Given the description of an element on the screen output the (x, y) to click on. 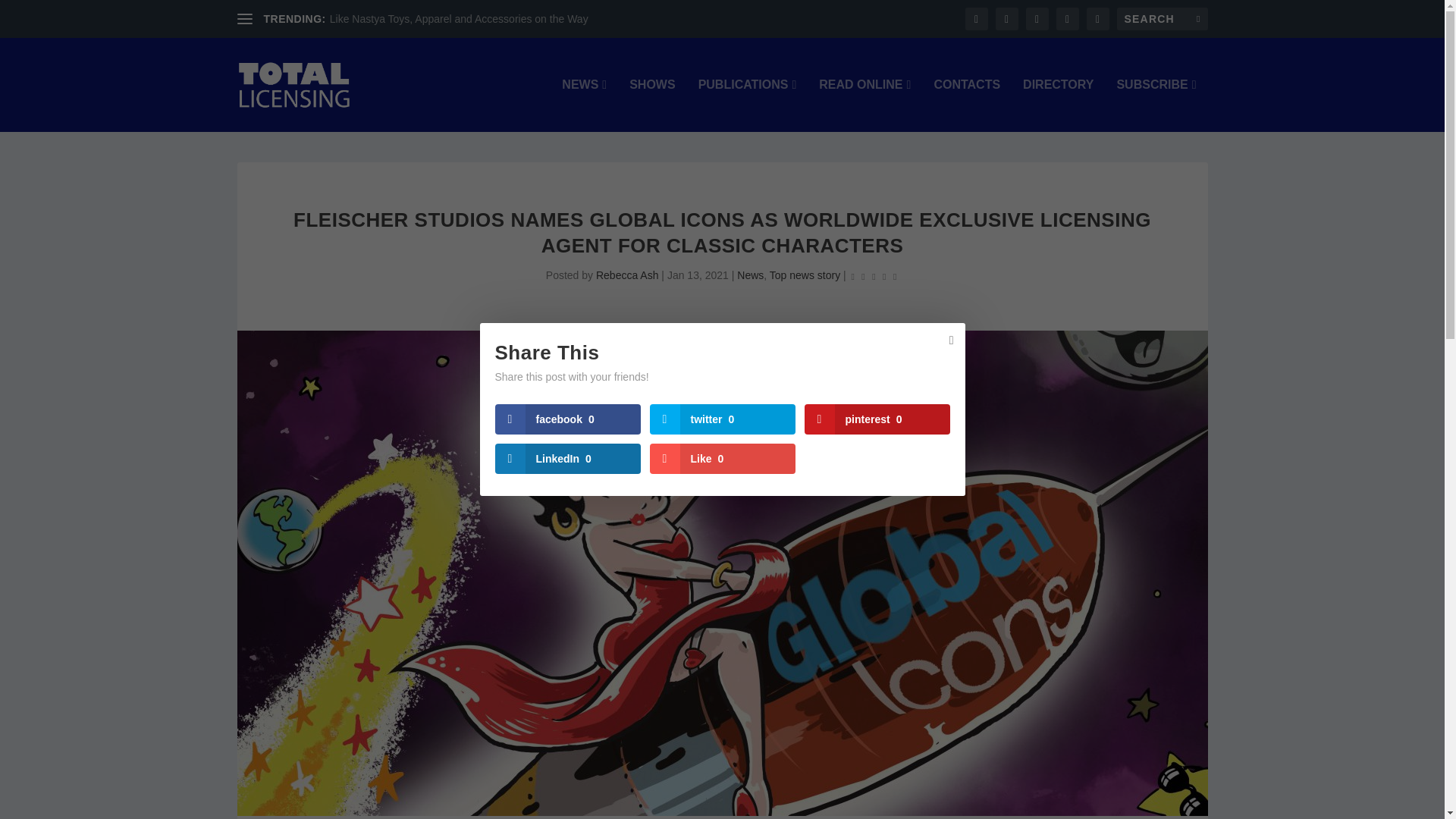
PUBLICATIONS (747, 104)
Search for: (1161, 18)
Like Nastya Toys, Apparel and Accessories on the Way (459, 19)
